Given the description of an element on the screen output the (x, y) to click on. 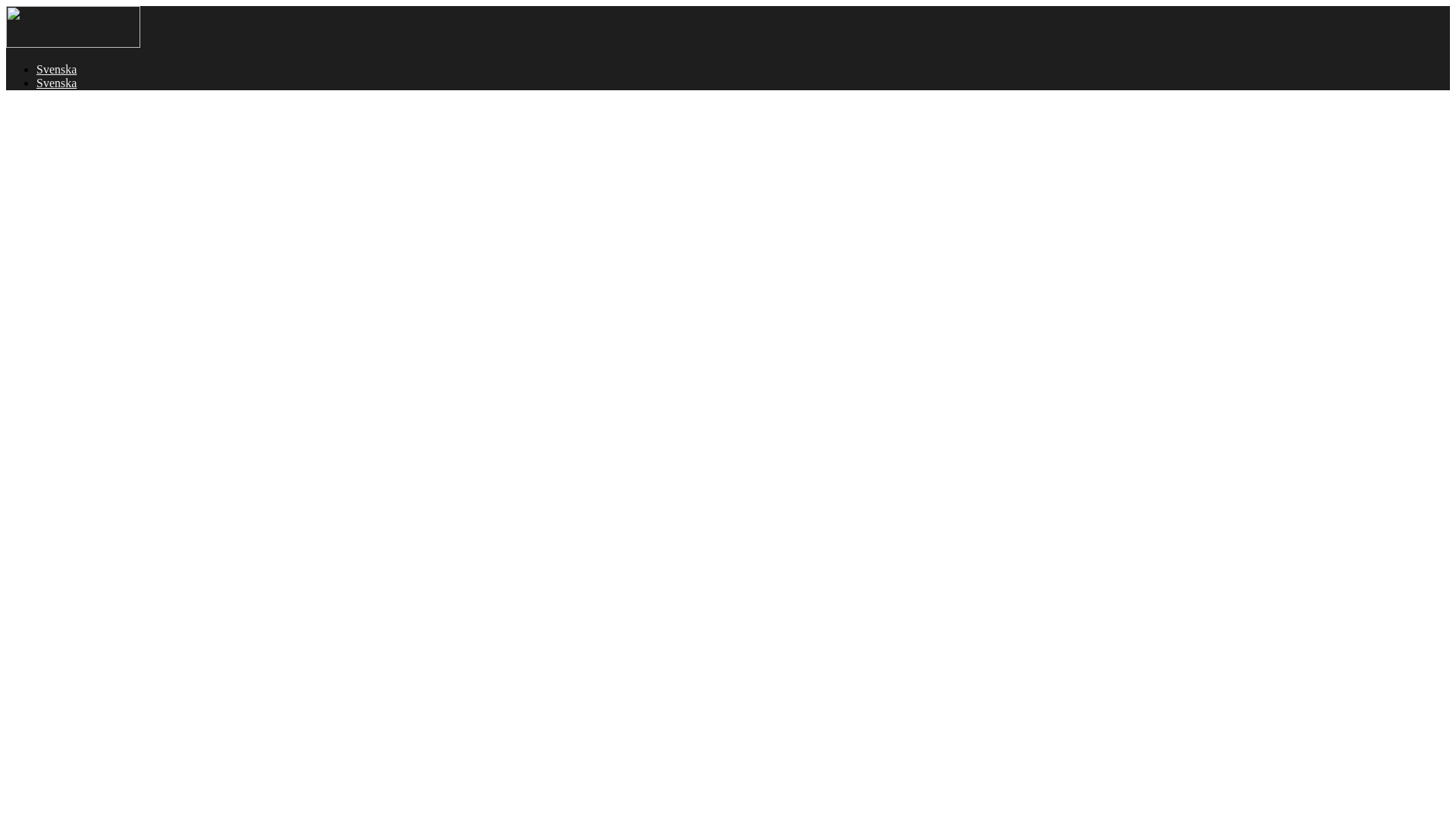
Svenska (56, 69)
